Given the description of an element on the screen output the (x, y) to click on. 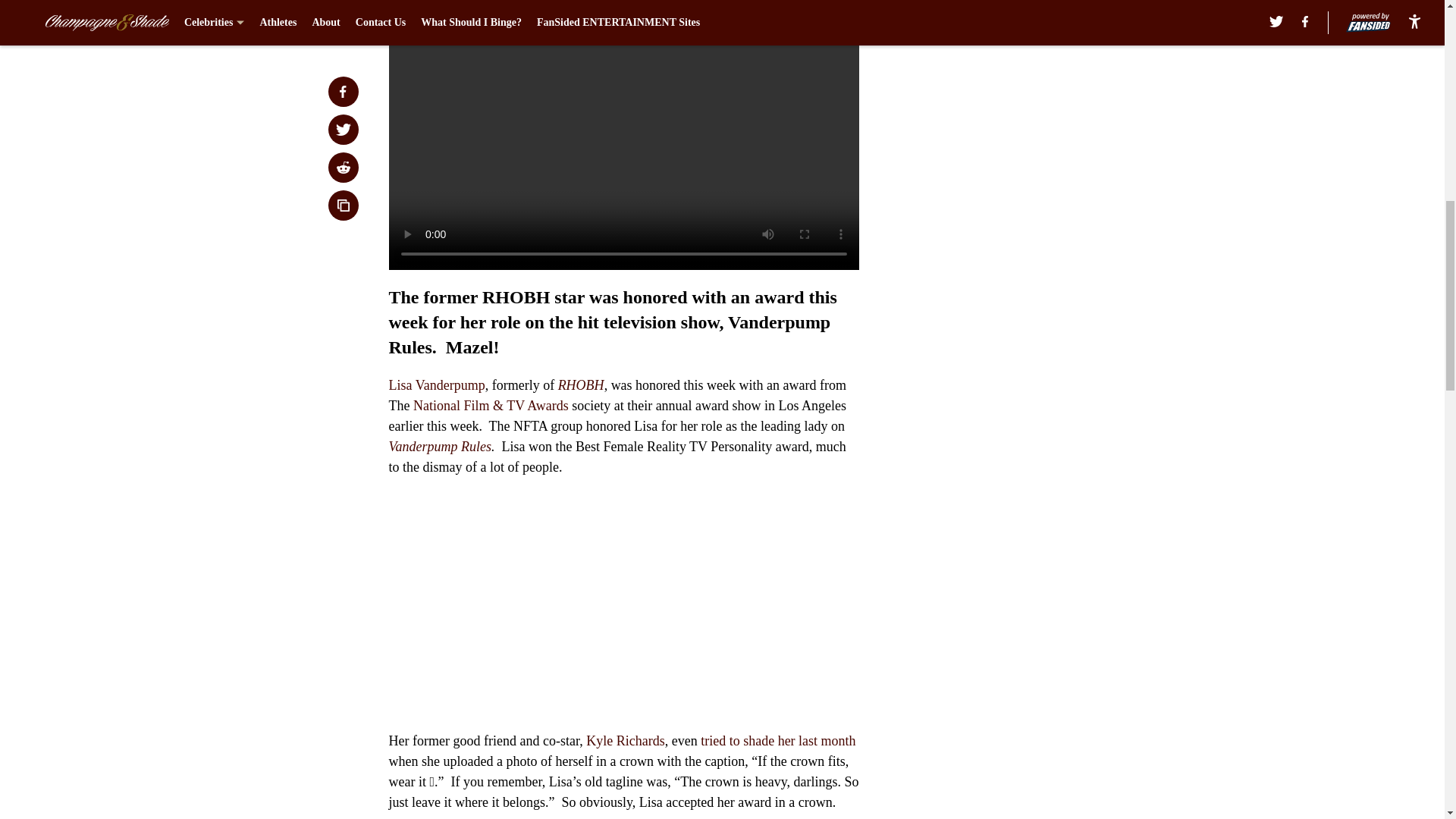
Kyle Richards (624, 740)
tried to shade her last month (778, 740)
Lisa Vanderpump (436, 385)
Vanderpump Rules (439, 446)
RHOBH (580, 385)
3rd party ad content (1047, 100)
3rd party ad content (1047, 320)
